Given the description of an element on the screen output the (x, y) to click on. 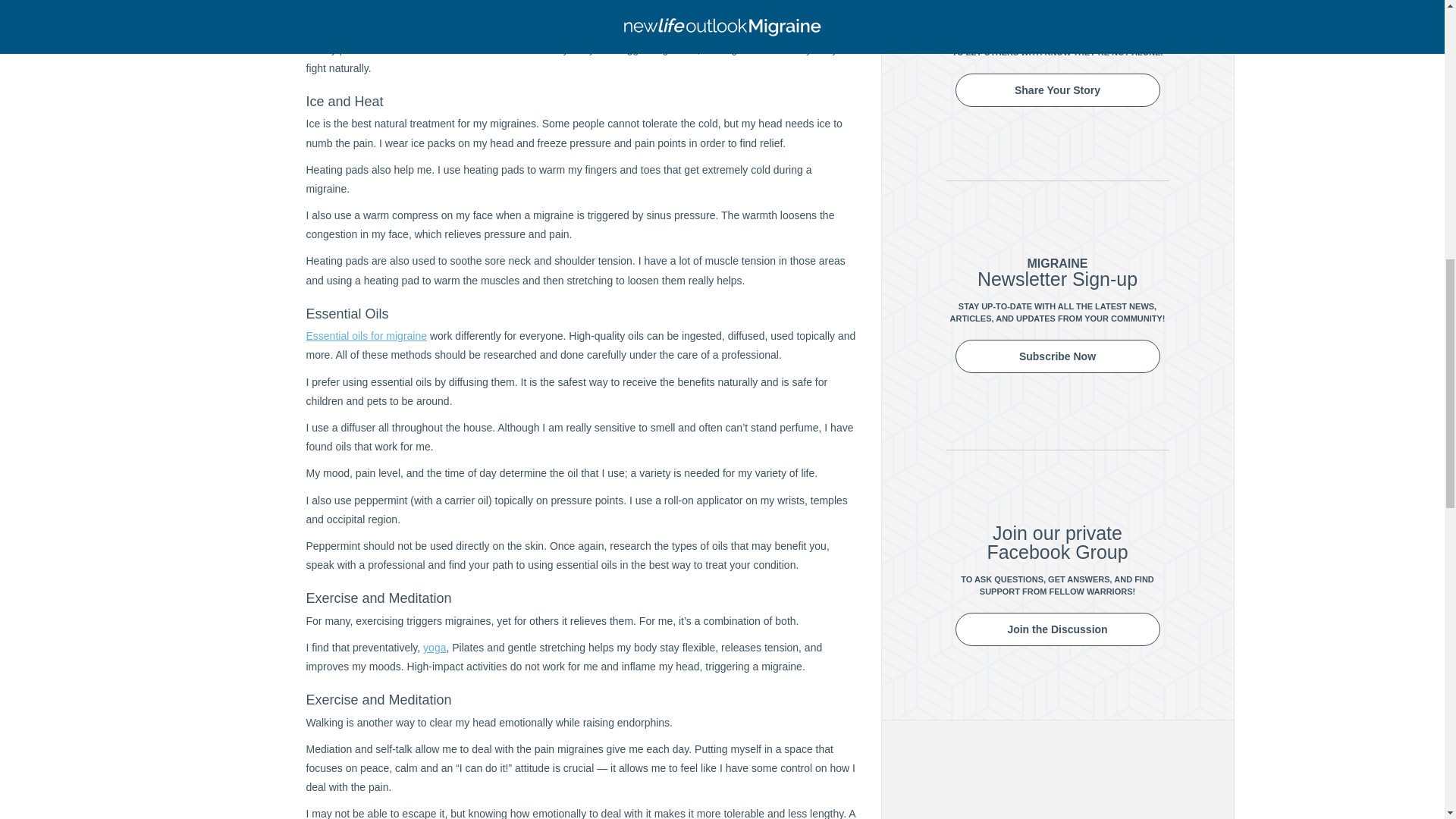
Join the Discussion (1057, 629)
Subscribe Now (1057, 356)
Essential oils for migraine (366, 336)
yoga (434, 647)
Share Your Story (1057, 90)
